Given the description of an element on the screen output the (x, y) to click on. 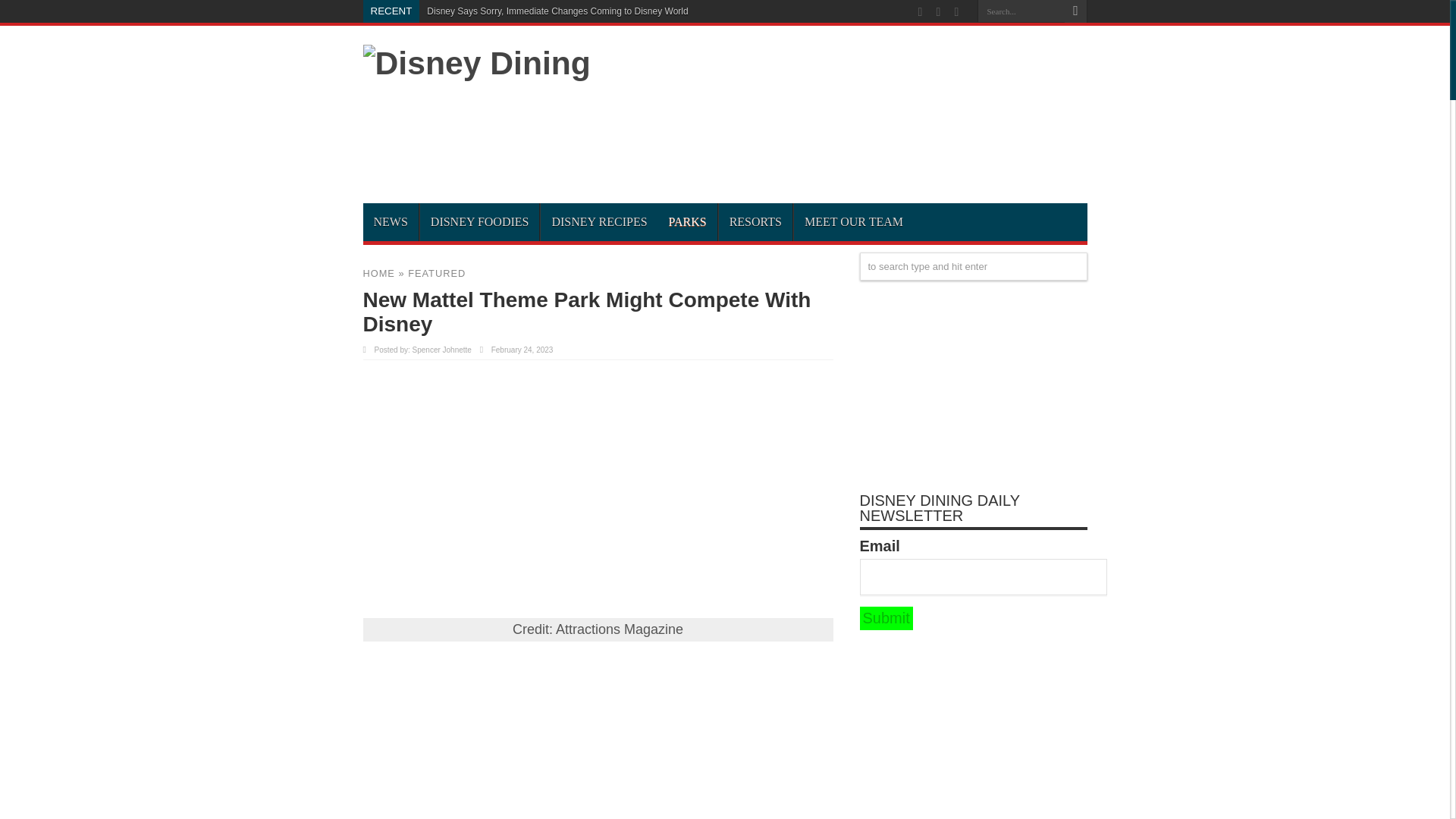
NEWS (389, 221)
HOME (378, 273)
PARKS (687, 221)
Disney Dining (475, 63)
FEATURED (436, 273)
Search... (1020, 11)
Twitter (956, 11)
Rss (920, 11)
to search type and hit enter (973, 266)
Facebook (938, 11)
DISNEY FOODIES (479, 221)
Disney Says Sorry, Immediate Changes Coming to Disney World (556, 11)
DISNEY RECIPES (599, 221)
RESORTS (754, 221)
MEET OUR TEAM (853, 221)
